Given the description of an element on the screen output the (x, y) to click on. 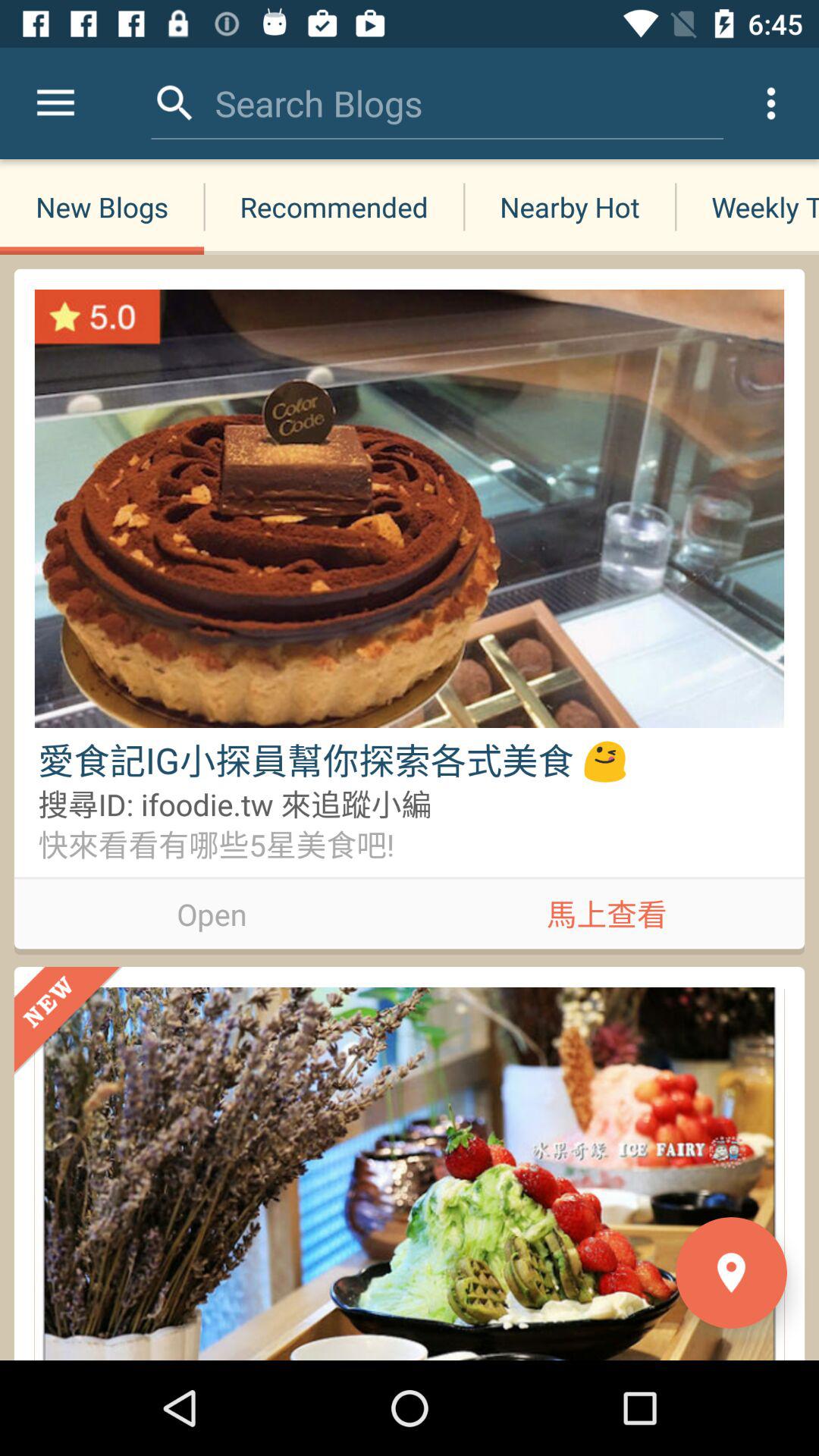
choose the icon to the right of the new blogs (334, 206)
